Given the description of an element on the screen output the (x, y) to click on. 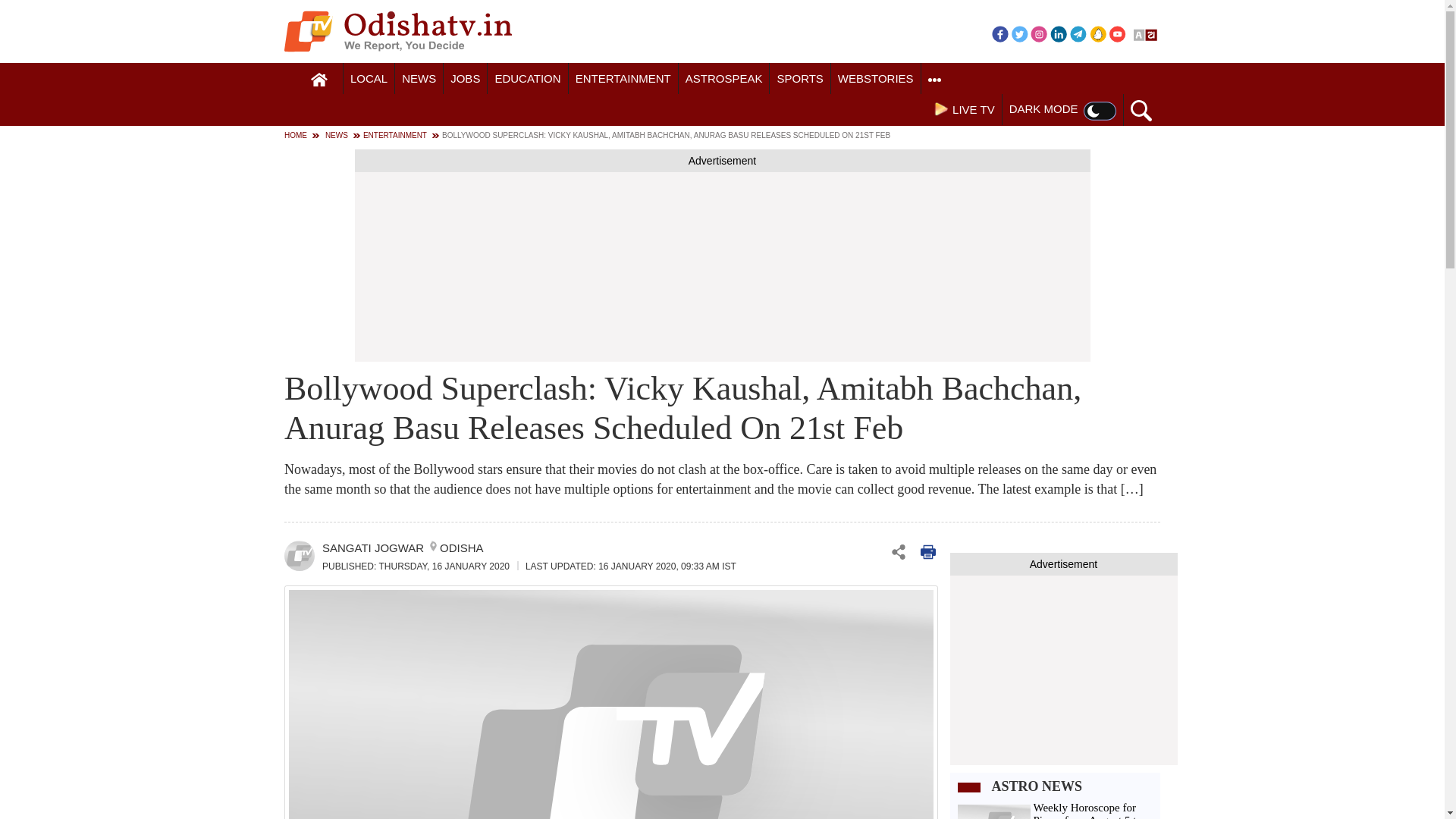
Telegram (1078, 33)
Instagram (1038, 33)
JOBS (465, 78)
NEWS (418, 78)
LinkedIn (1058, 33)
EDUCATION (527, 78)
Home Icon (319, 79)
LOCAL (368, 78)
Odisha (368, 78)
News (418, 78)
OdishaTV (397, 31)
ENTERTAINMENT (623, 78)
Youtube (1117, 33)
Twitter (1019, 33)
Facebook (1000, 33)
